Given the description of an element on the screen output the (x, y) to click on. 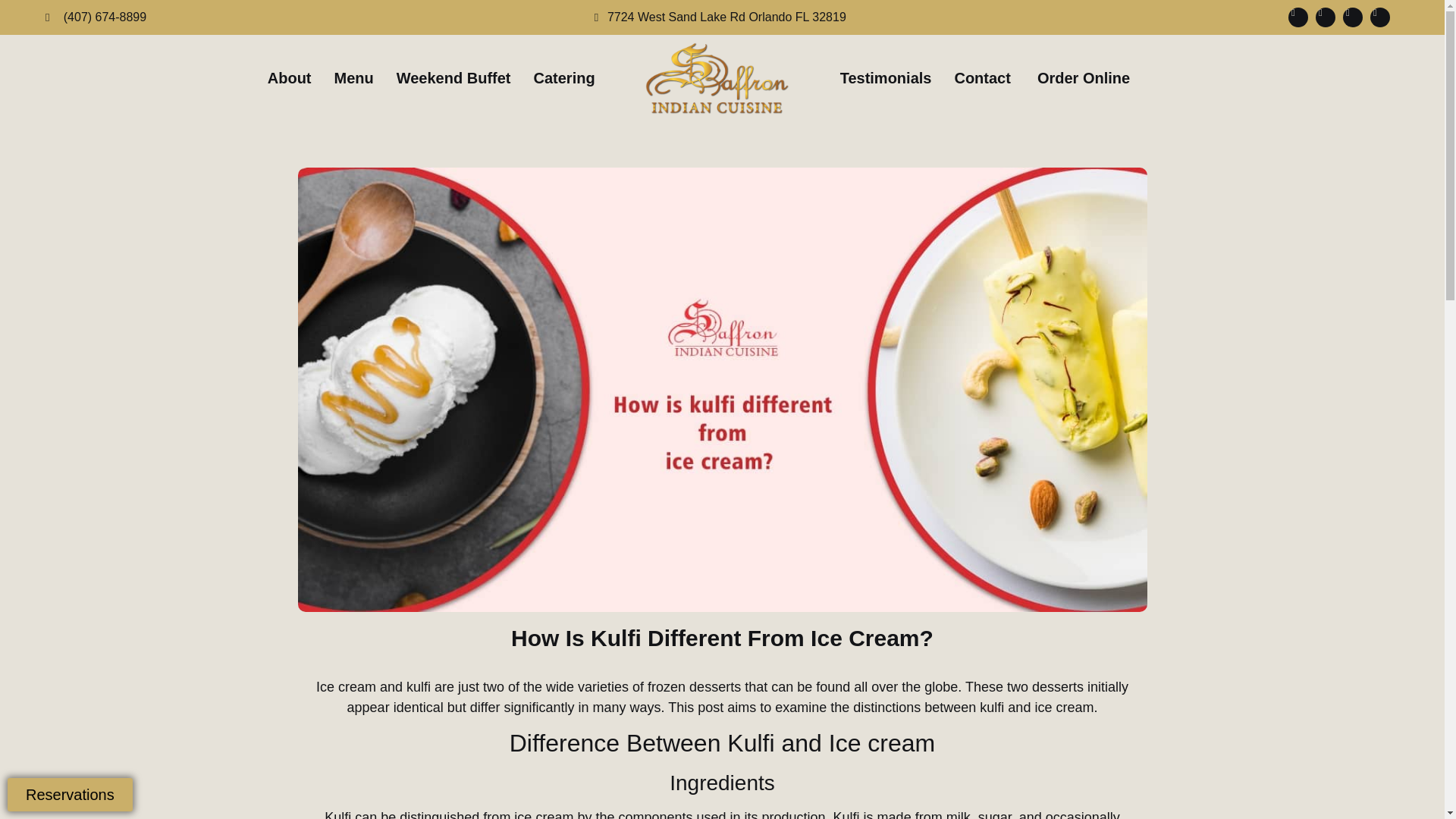
About (289, 77)
Catering (563, 77)
7724 West Sand Lake Rd Orlando FL 32819 (717, 17)
Menu (354, 77)
Testimonials (885, 77)
Contact (982, 77)
Order Online (1082, 77)
Weekend Buffet (453, 77)
